Given the description of an element on the screen output the (x, y) to click on. 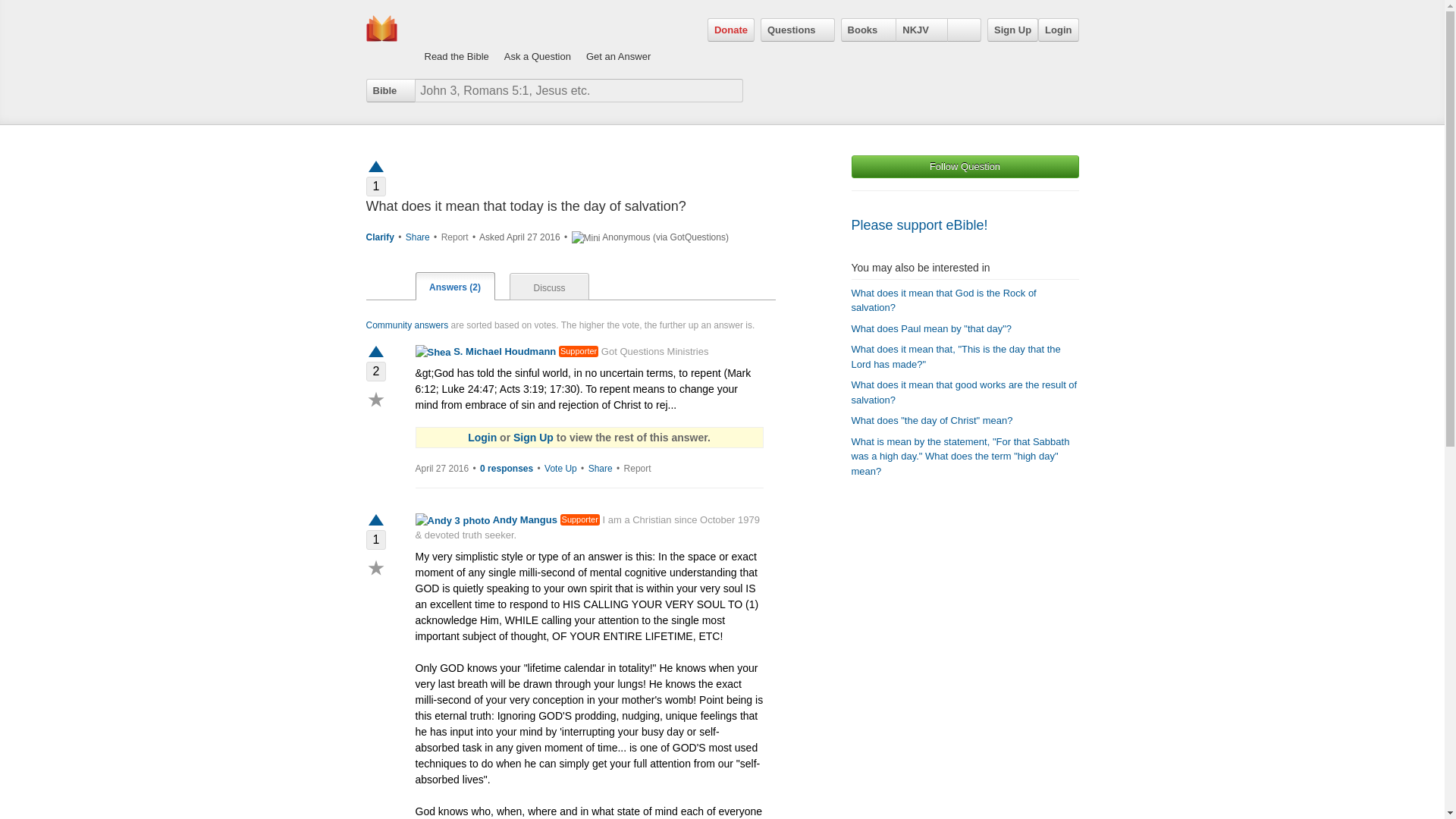
Vote Question Up (375, 165)
Vote Up (375, 352)
Get an Answer (618, 41)
Questions (797, 29)
Read the Bible (457, 41)
Vote Up (375, 521)
Books (868, 29)
Donate (730, 29)
